Given the description of an element on the screen output the (x, y) to click on. 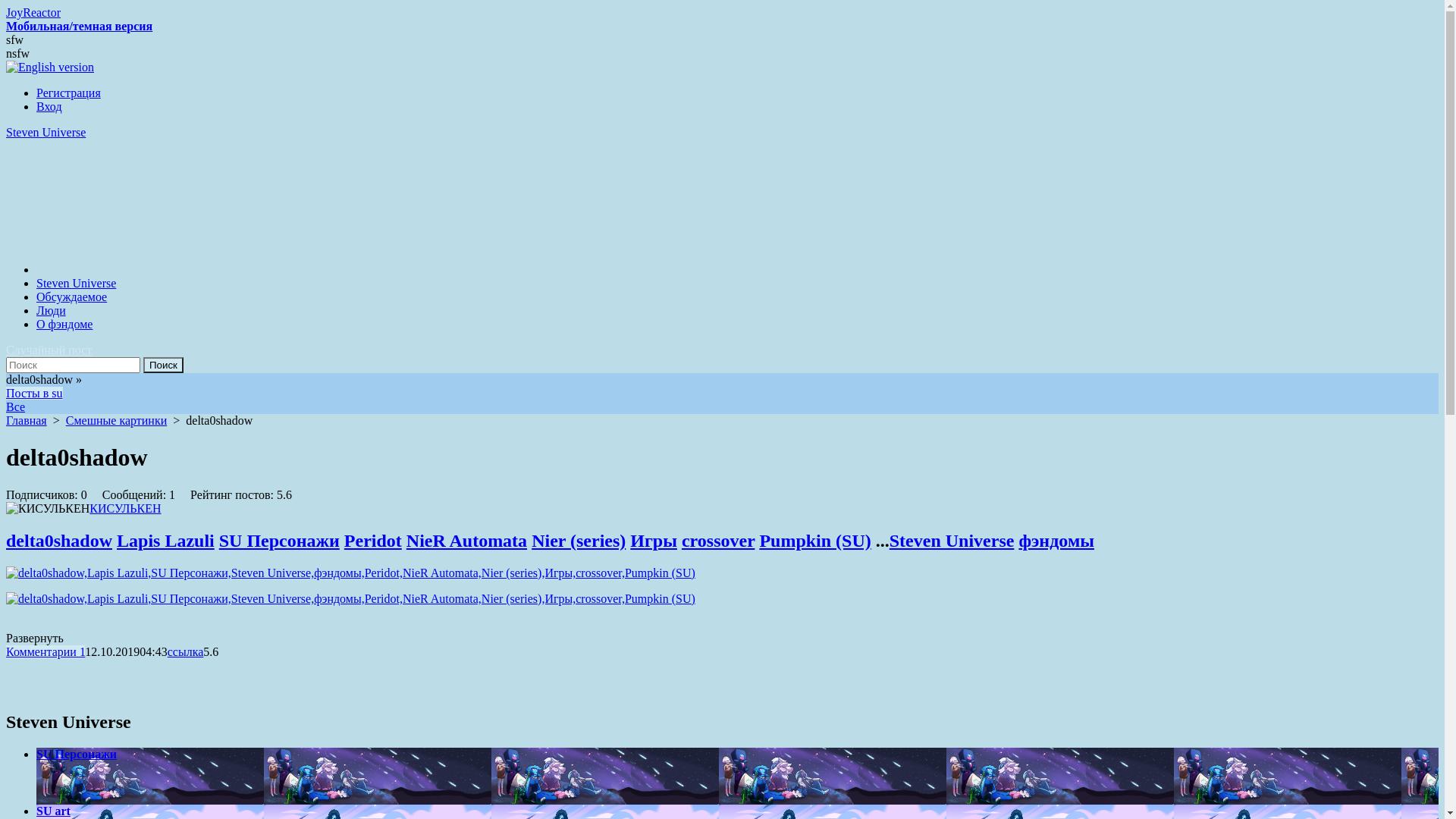
SU art Element type: text (737, 811)
Steven Universe Element type: text (76, 282)
English version Element type: hover (50, 67)
Steven Universe Element type: text (722, 188)
Nier (series) Element type: text (578, 540)
JoyReactor Element type: text (33, 12)
Peridot Element type: text (372, 540)
crossover Element type: text (717, 540)
NieR Automata Element type: text (466, 540)
Pumpkin (SU) Element type: text (814, 540)
Lapis Lazuli Element type: text (165, 540)
delta0shadow Element type: text (59, 540)
Steven Universe Element type: text (951, 540)
